Given the description of an element on the screen output the (x, y) to click on. 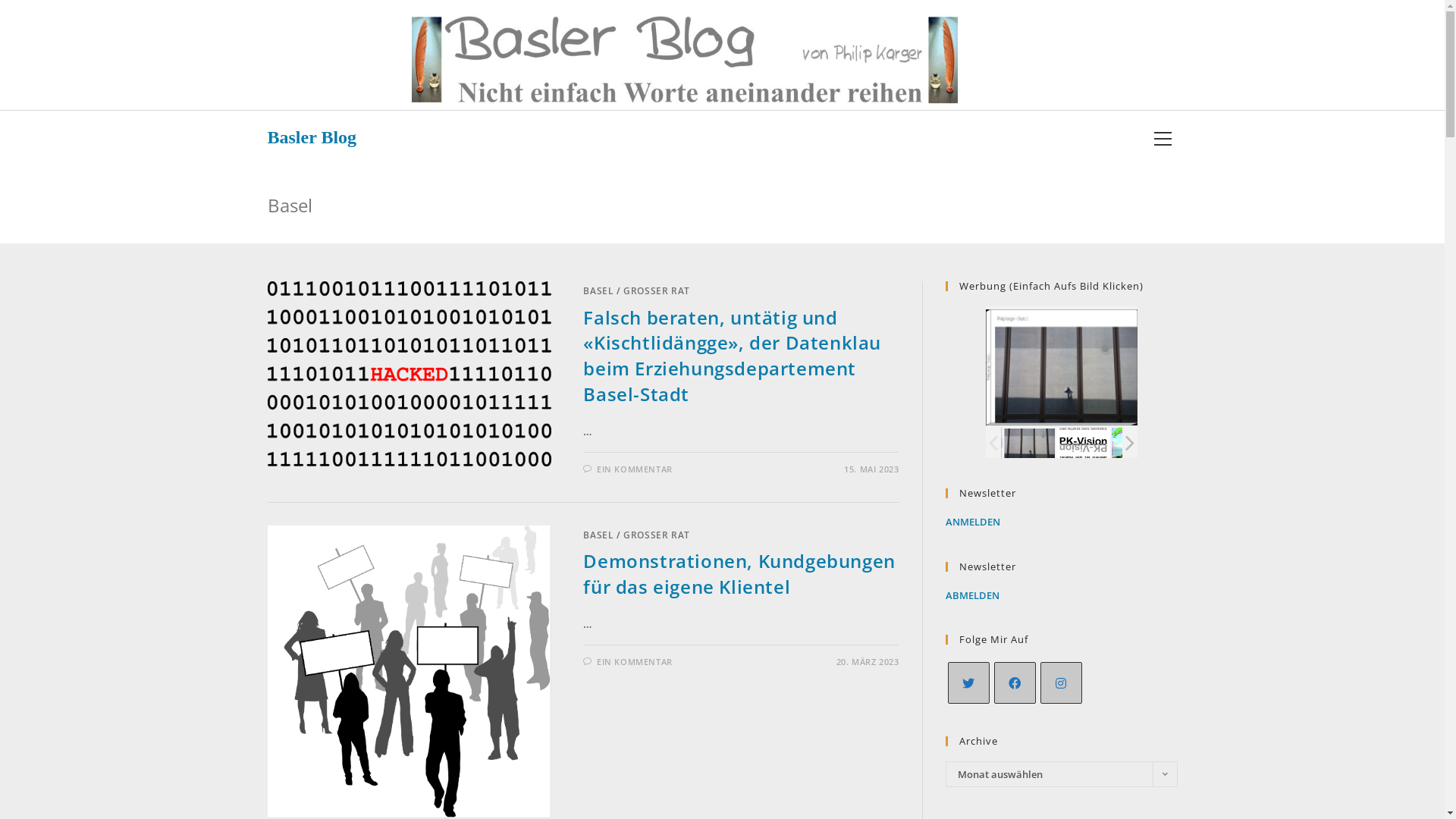
Basilia1 Element type: hover (1138, 443)
GROSSER RAT Element type: text (656, 534)
Philip Karger . Shots 1
Das neuen Fotobuch ist da Element type: hover (1027, 442)
GROSSER RAT Element type: text (656, 290)
BASEL Element type: text (598, 534)
BASEL Element type: text (598, 290)
Basler Blog Element type: text (311, 137)
ABMELDEN Element type: text (971, 595)
PK-Vision-werbung Element type: hover (1082, 443)
ANMELDEN Element type: text (971, 521)
EIN KOMMENTAR Element type: text (634, 468)
EIN KOMMENTAR Element type: text (634, 661)
View website Menu Element type: text (1162, 137)
